Given the description of an element on the screen output the (x, y) to click on. 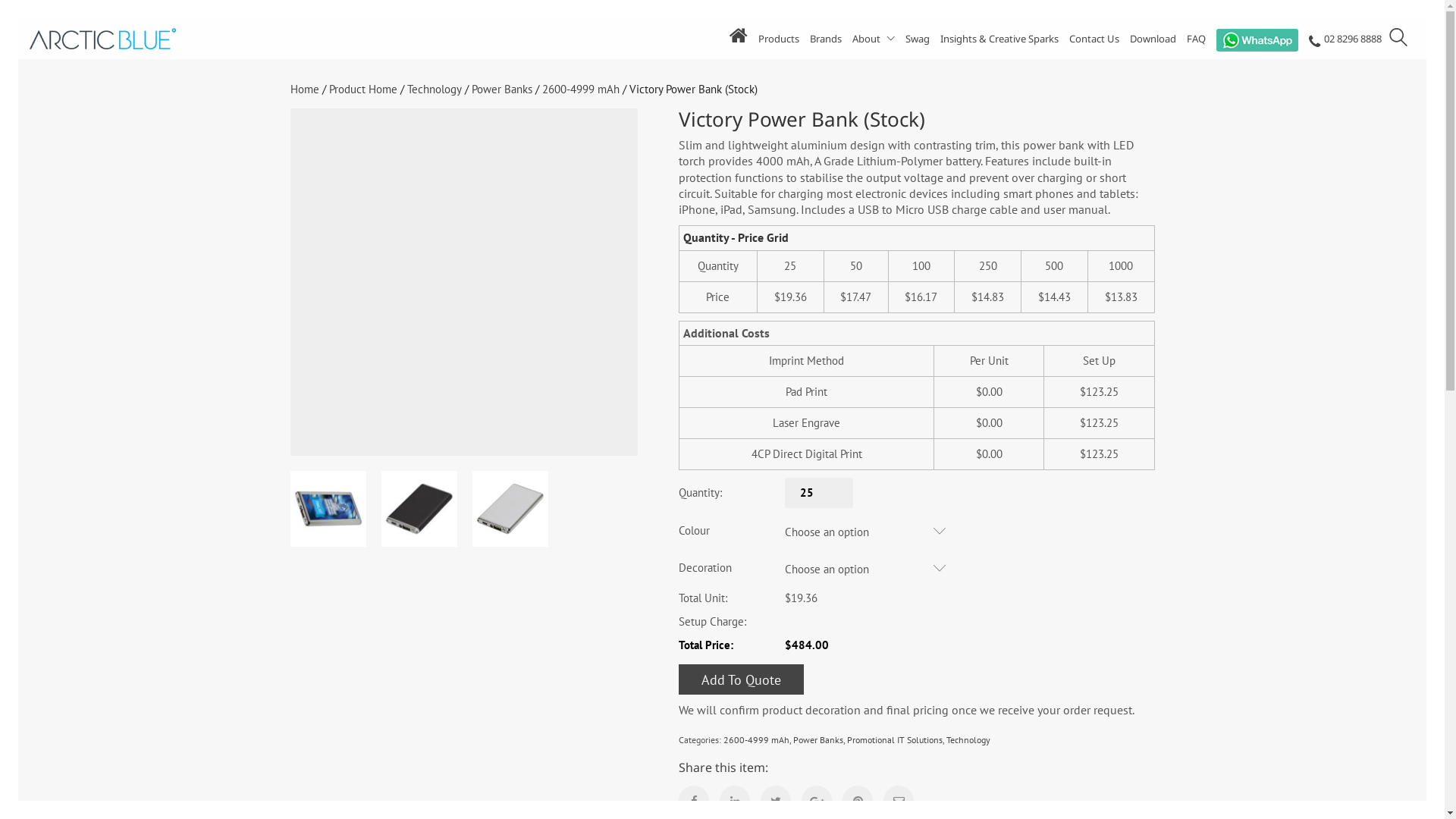
Power Banks Element type: text (501, 89)
02 8296 8888 Element type: text (1344, 41)
Technology Element type: text (433, 89)
Add To Quote Element type: text (740, 679)
Products Element type: text (778, 38)
Promotional IT Solutions Element type: text (894, 740)
Contact Us Element type: text (1094, 38)
FAQ Element type: text (1195, 38)
Download Element type: text (1152, 38)
Power Banks Element type: text (818, 740)
Product Home Element type: text (363, 89)
Insights & Creative Sparks Element type: text (999, 38)
Home Element type: text (303, 89)
About Element type: text (873, 38)
Technology Element type: text (968, 740)
Qty Element type: hover (818, 492)
Brands Element type: text (825, 38)
2600-4999 mAh Element type: text (756, 740)
Swag Element type: text (917, 38)
2600-4999 mAh Element type: text (579, 89)
